Given the description of an element on the screen output the (x, y) to click on. 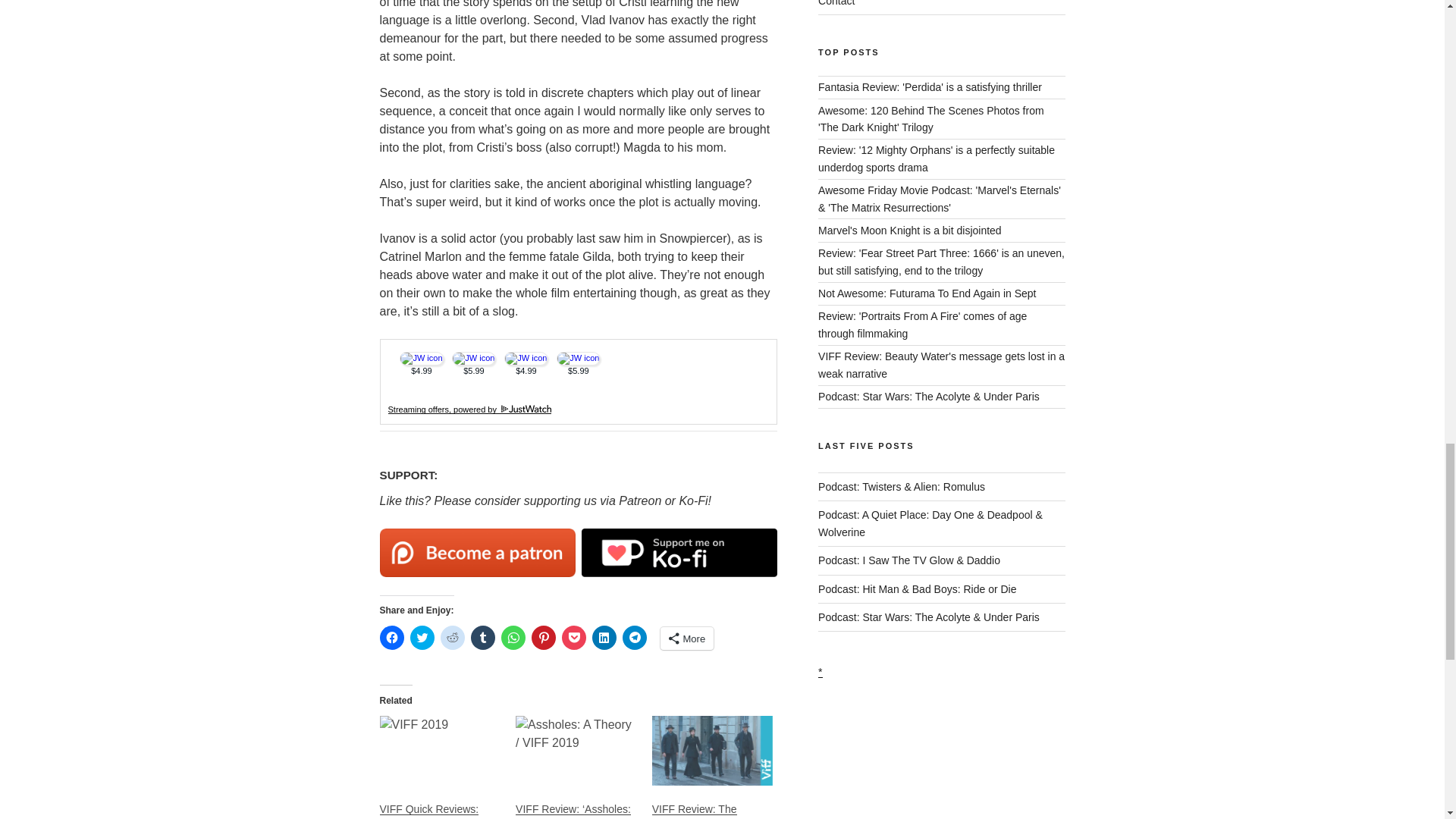
Click to share on Pocket (572, 637)
Streaming offers, powered by JustWatch (469, 409)
VIFF Review: The Anarchists (694, 811)
Click to share on Reddit (451, 637)
Click to share on Twitter (421, 637)
Click to share on LinkedIn (603, 637)
Click to share on Telegram (633, 637)
Click to share on Tumblr (482, 637)
Click to share on Facebook (390, 637)
